Given the description of an element on the screen output the (x, y) to click on. 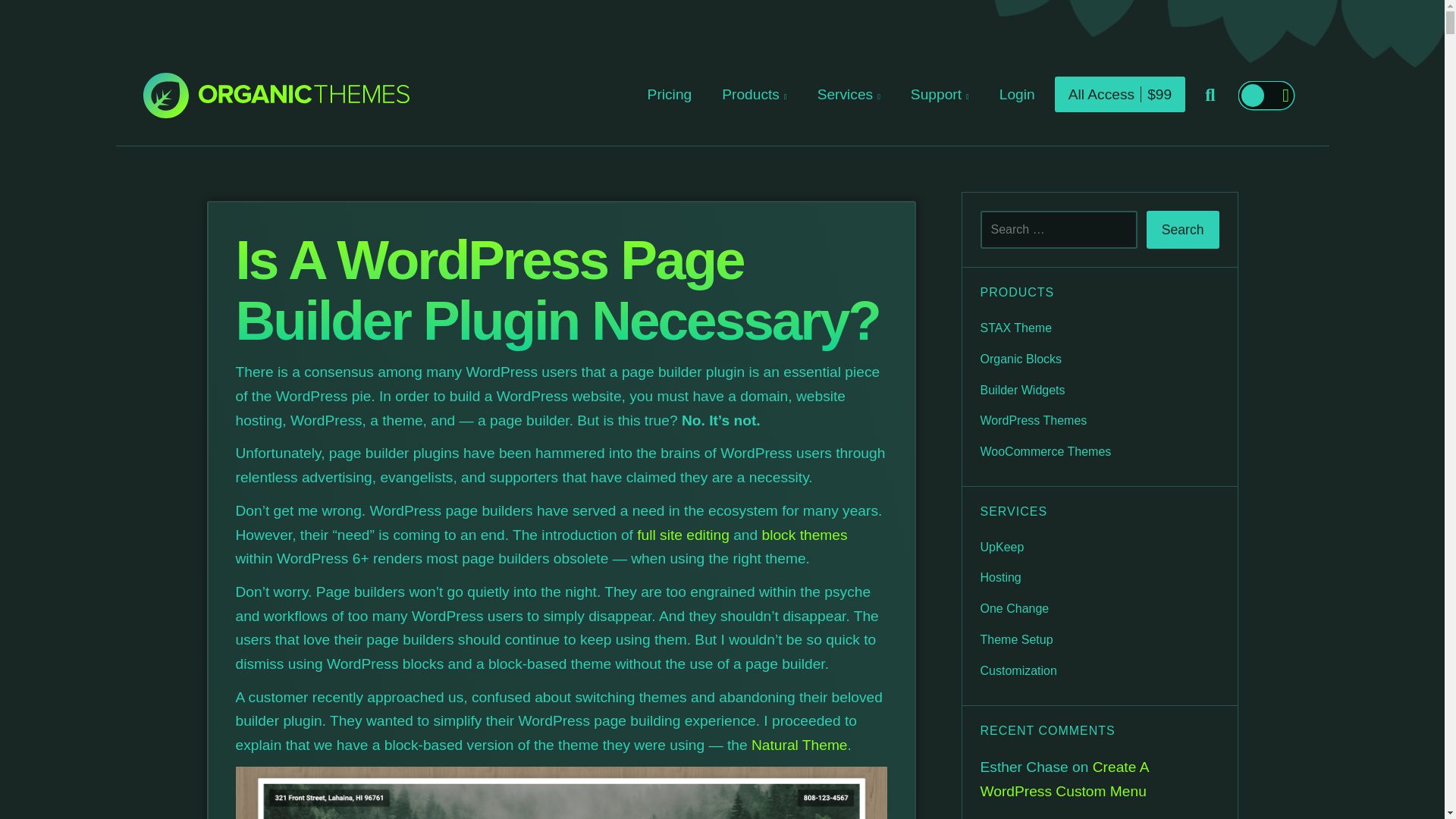
Is A WordPress Page Builder Plugin Necessary? (556, 290)
Products (753, 94)
Support (939, 94)
Login (1016, 94)
Services (848, 94)
Organic Themes Search (1209, 94)
Pricing (669, 94)
Search (1183, 229)
All Access (1120, 94)
